Given the description of an element on the screen output the (x, y) to click on. 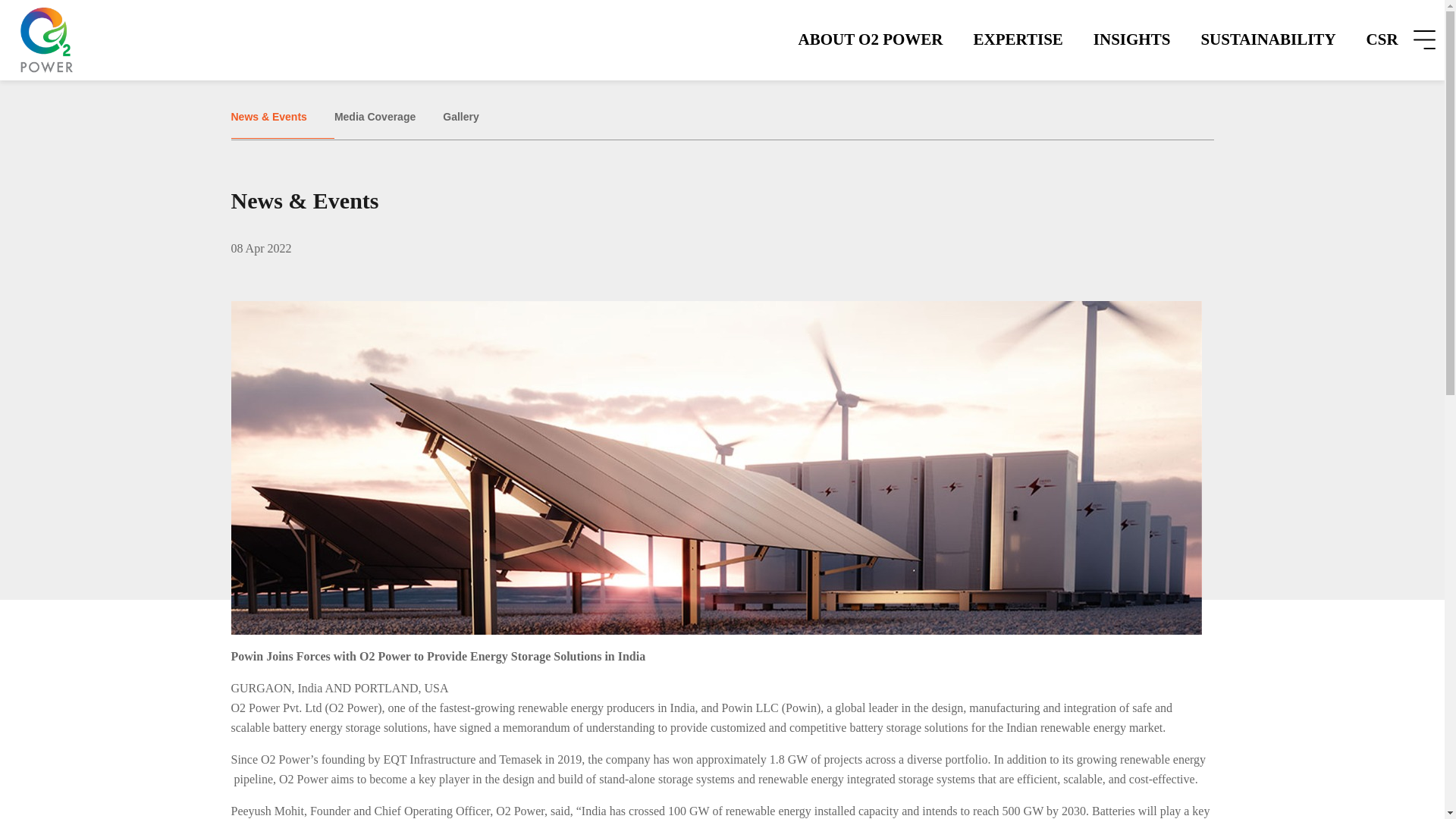
EXPERTISE (1018, 39)
ABOUT O2 POWER (870, 39)
CSR (1382, 39)
INSIGHTS (1132, 39)
SUSTAINABILITY (1268, 39)
